Given the description of an element on the screen output the (x, y) to click on. 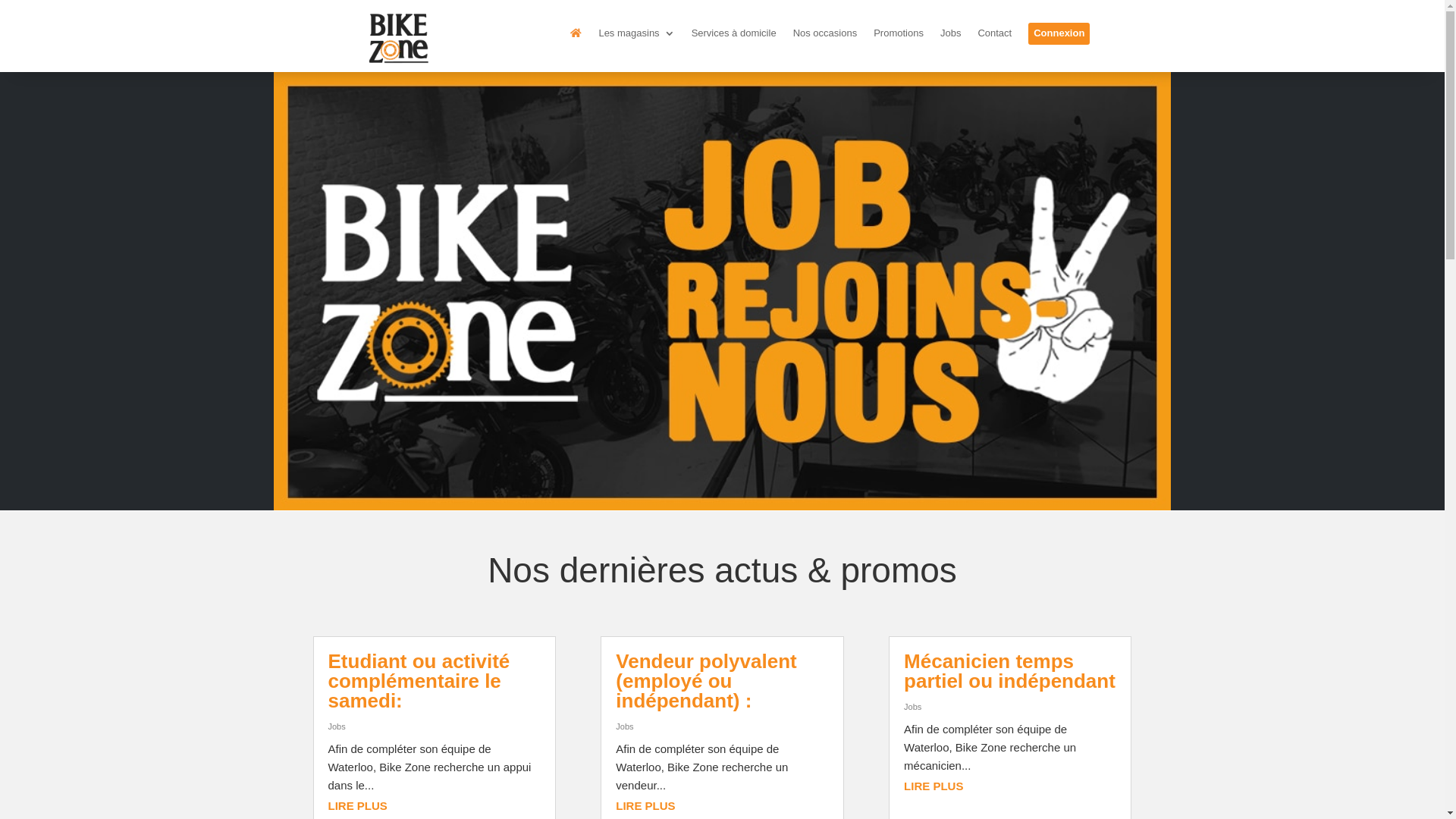
1 Element type: text (715, 479)
Les magasins Element type: text (636, 36)
Nos occasions Element type: text (825, 36)
LIRE PLUS Element type: text (933, 785)
LIRE PLUS Element type: text (644, 805)
Promotions Element type: text (898, 36)
Jobs Element type: text (336, 726)
logo-bikezone Element type: hover (398, 38)
2 Element type: text (728, 479)
Connexion Element type: text (1058, 33)
LIRE PLUS Element type: text (356, 805)
Jobs Element type: text (950, 36)
Jobs Element type: text (912, 706)
Contact Element type: text (994, 36)
Jobs Element type: text (624, 726)
